Given the description of an element on the screen output the (x, y) to click on. 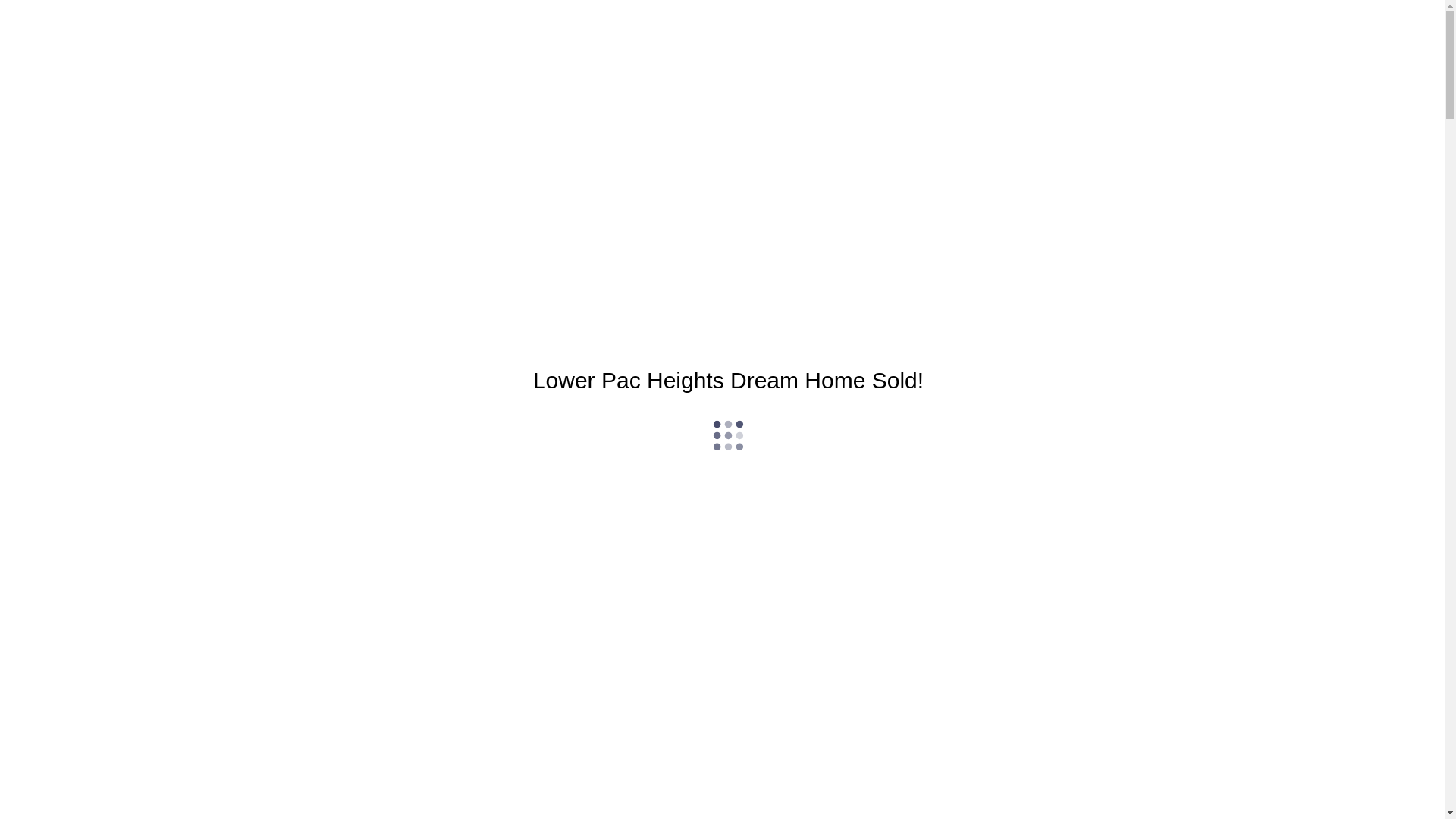
GALLERY Element type: text (66, 79)
SCHEDULE & CONTACT Element type: text (100, 155)
2737 BUSH STREET Element type: text (722, 724)
Toggle navigation Element type: text (50, 37)
2737 Bush Street Element type: text (183, 37)
HIGHLIGHTS Element type: text (76, 110)
FEATURES Element type: text (70, 125)
VIDEO TOUR Element type: text (75, 94)
LOCATION Element type: text (70, 140)
